Given the description of an element on the screen output the (x, y) to click on. 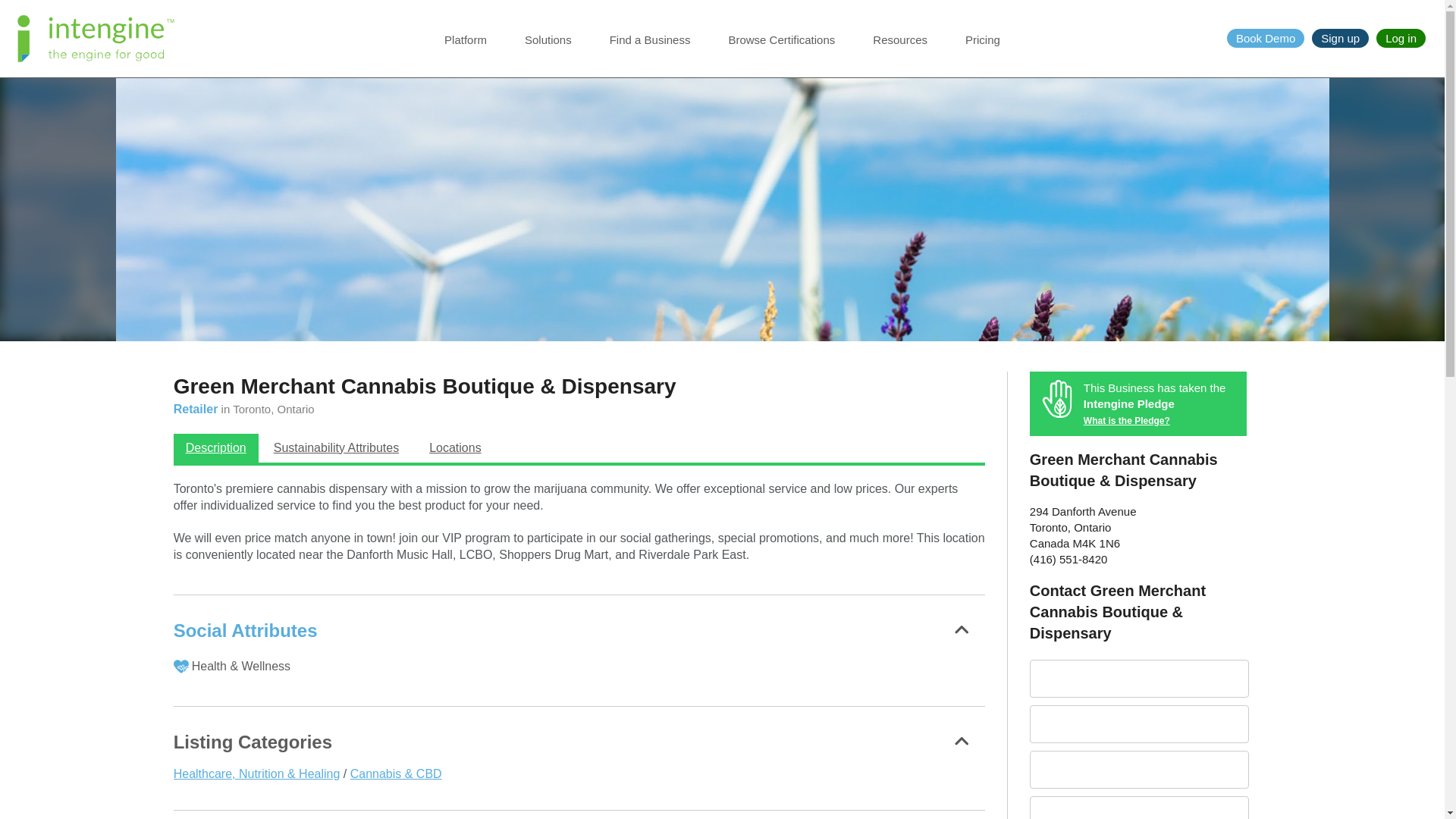
Find a Business (650, 49)
Platform (465, 49)
Solutions (548, 49)
